Given the description of an element on the screen output the (x, y) to click on. 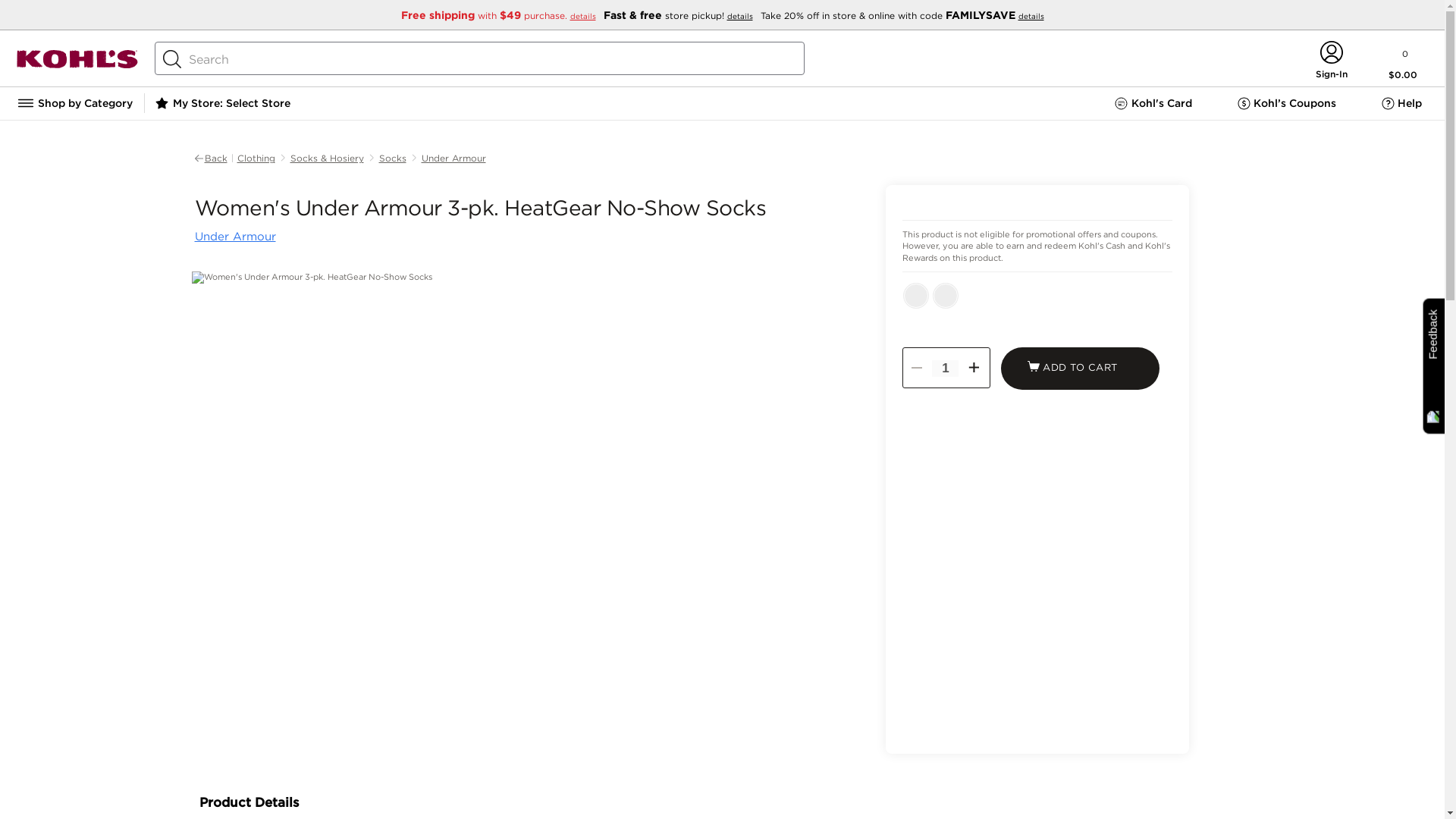
Back (216, 158)
Add to Cart (1079, 368)
Shop by Category (74, 102)
Socks (392, 158)
Help (1401, 102)
Kohls Logo (76, 64)
Product quantity (944, 368)
Kohl's Card (1153, 102)
Add To Cart (1079, 368)
Clothing (255, 158)
My Store: Select Store (231, 102)
Product Details (683, 801)
1 (944, 368)
Black (915, 295)
Under Armour (454, 158)
